Given the description of an element on the screen output the (x, y) to click on. 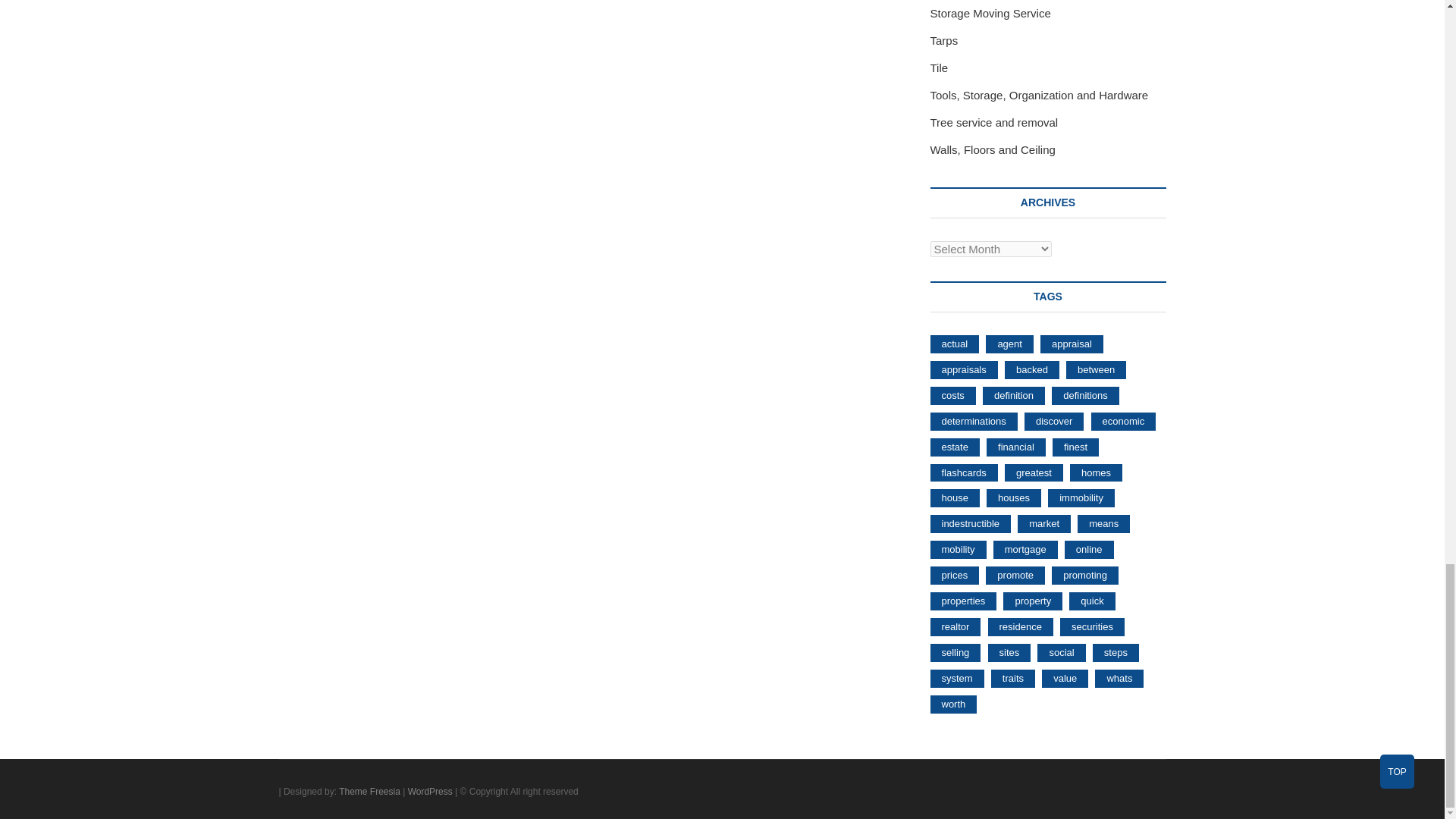
WordPress (429, 791)
Theme Freesia (369, 791)
